Given the description of an element on the screen output the (x, y) to click on. 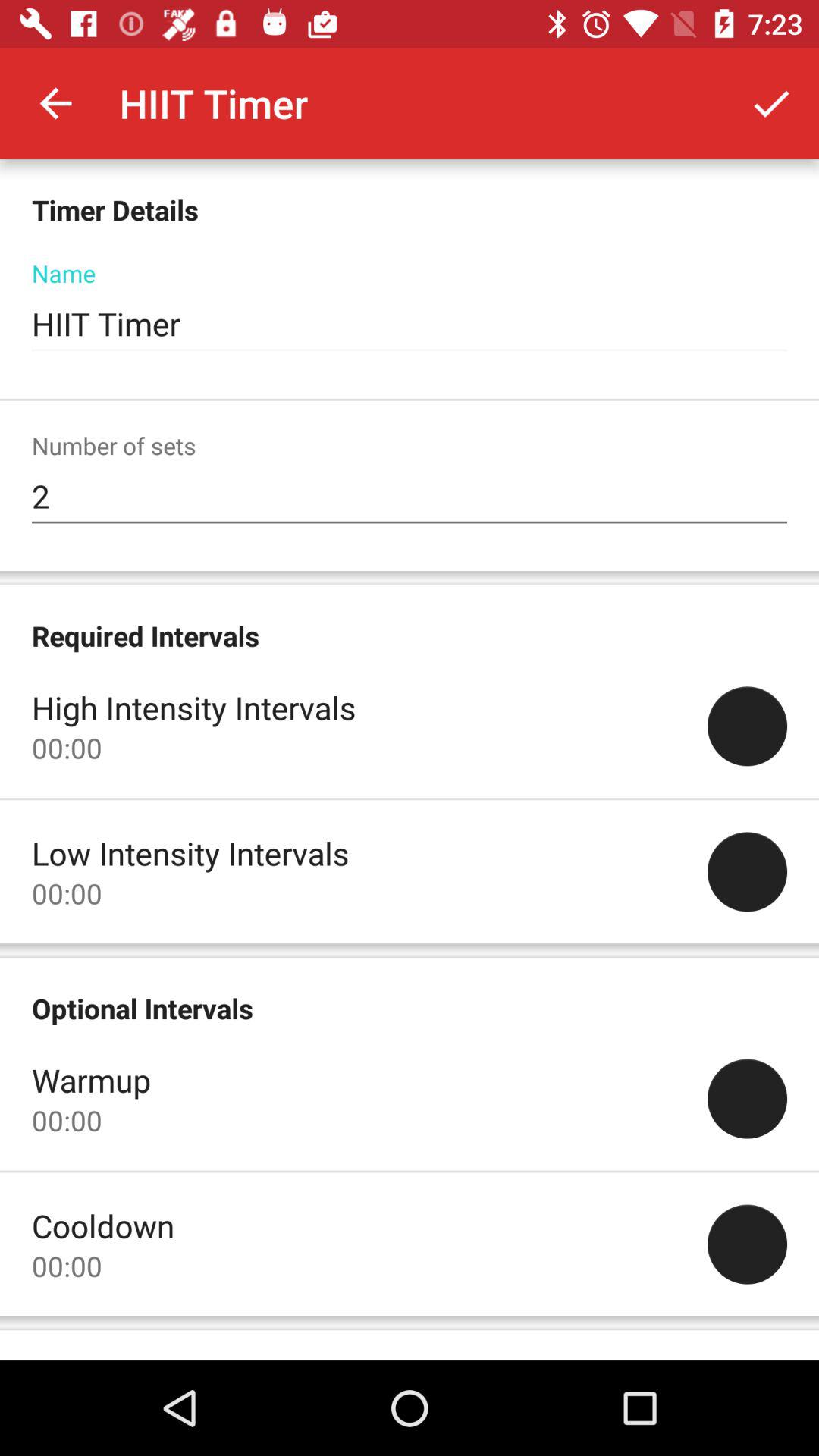
open the item to the left of hiit timer app (55, 103)
